Given the description of an element on the screen output the (x, y) to click on. 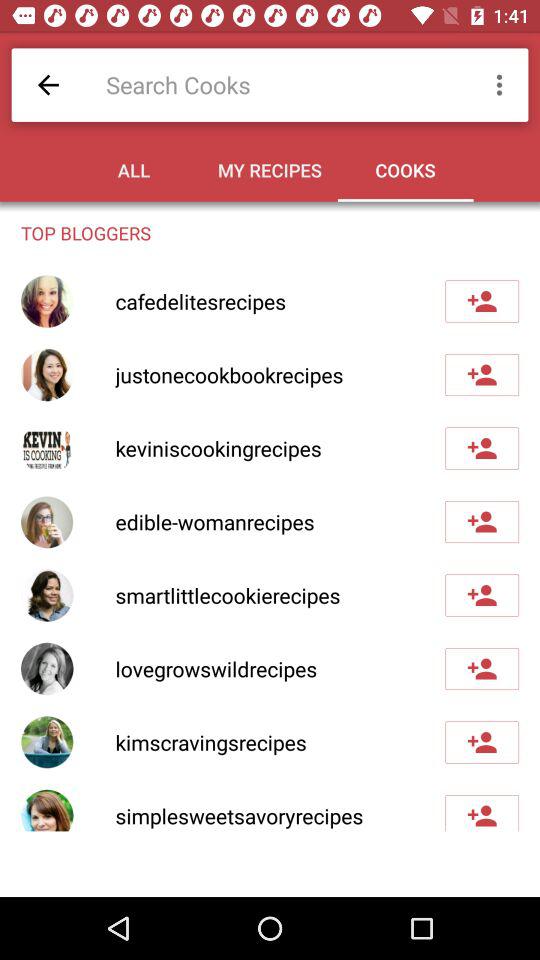
type cook name (280, 84)
